Given the description of an element on the screen output the (x, y) to click on. 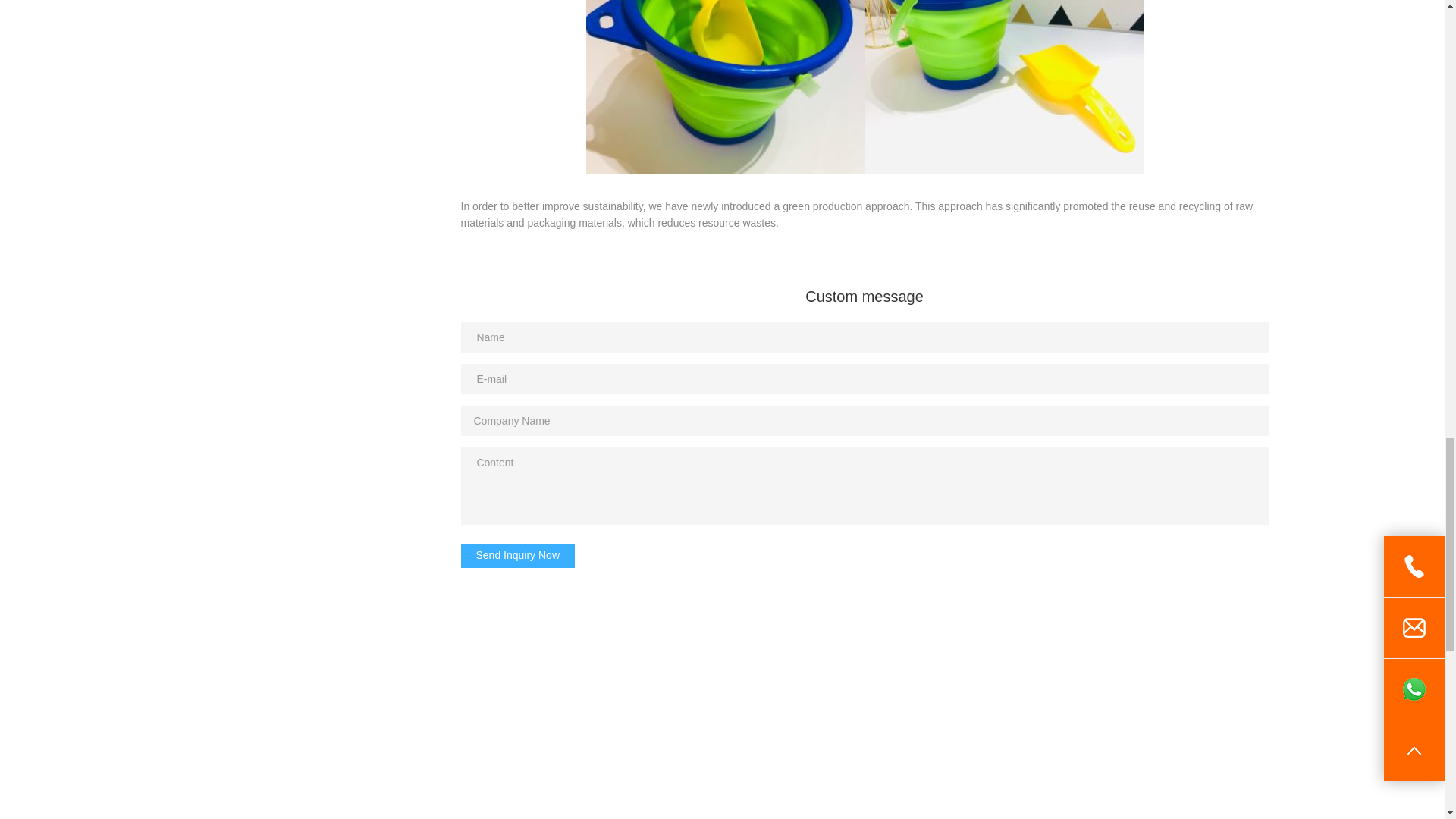
Reusable Air Fryer Silicone Liner Fits (722, 717)
Send Inquiry Now (518, 555)
